Given the description of an element on the screen output the (x, y) to click on. 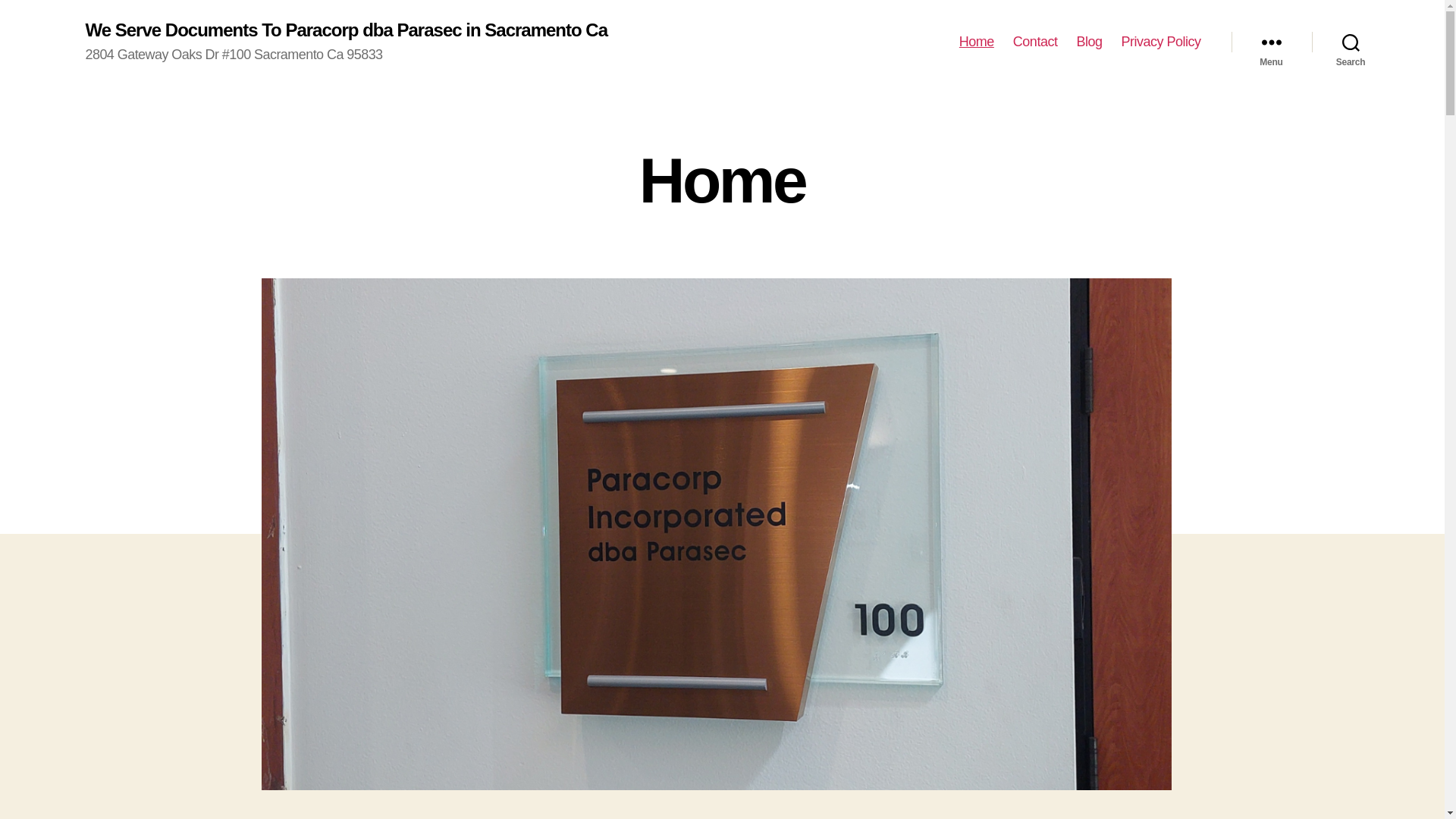
Contact Element type: text (1035, 42)
Privacy Policy Element type: text (1160, 42)
Home Element type: text (976, 42)
We Serve Documents To Paracorp dba Parasec in Sacramento Ca Element type: text (345, 30)
Search Element type: text (1350, 42)
Menu Element type: text (1271, 42)
Blog Element type: text (1088, 42)
